Given the description of an element on the screen output the (x, y) to click on. 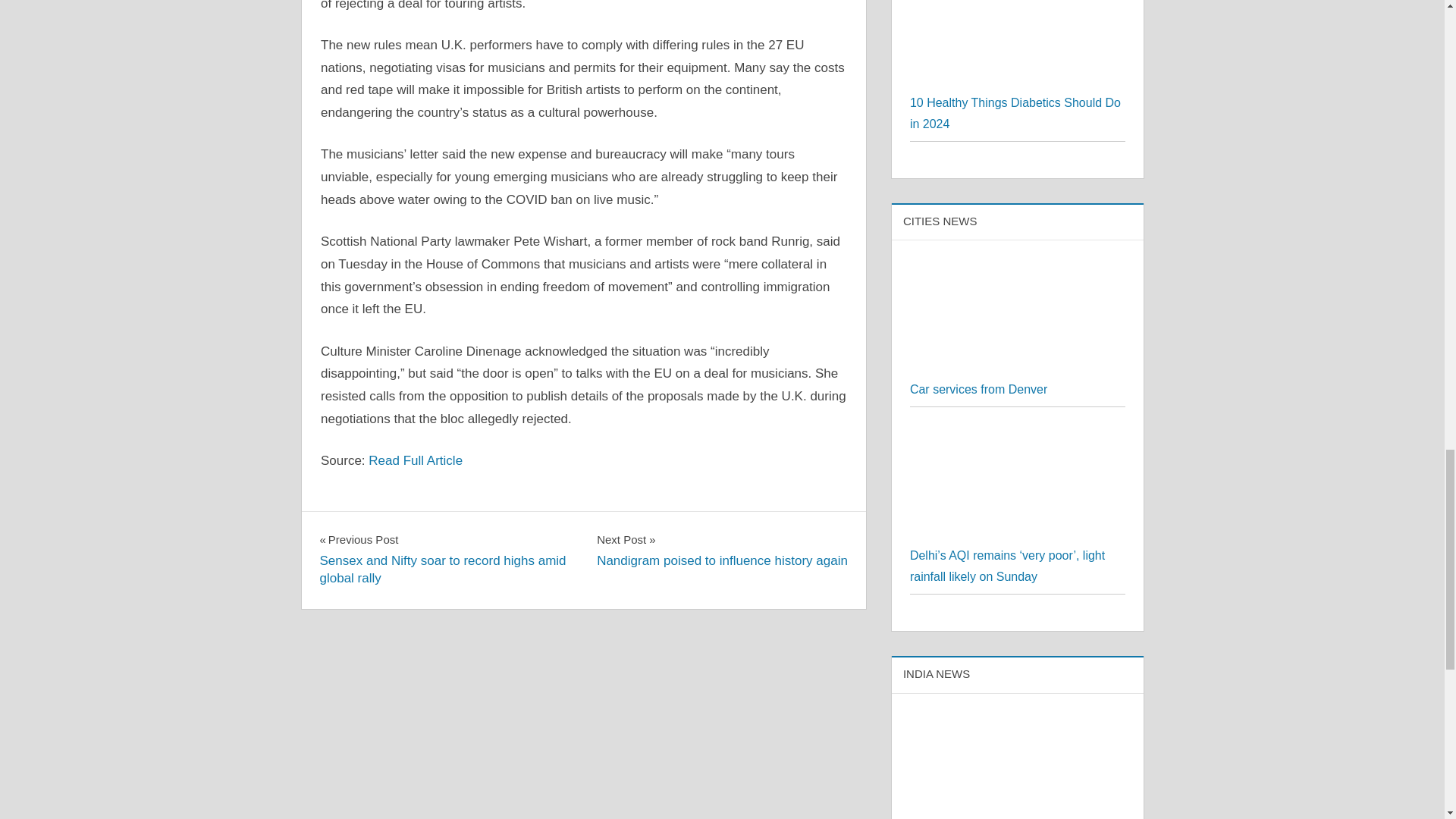
WORLD (348, 525)
10 Healthy Things Diabetics Should Do in 2024 (721, 549)
Read Full Article (1015, 113)
Car services from Denver (415, 460)
Car services from Denver (978, 389)
10 Healthy Things Diabetics Should Do in 2024 (1017, 367)
